Given the description of an element on the screen output the (x, y) to click on. 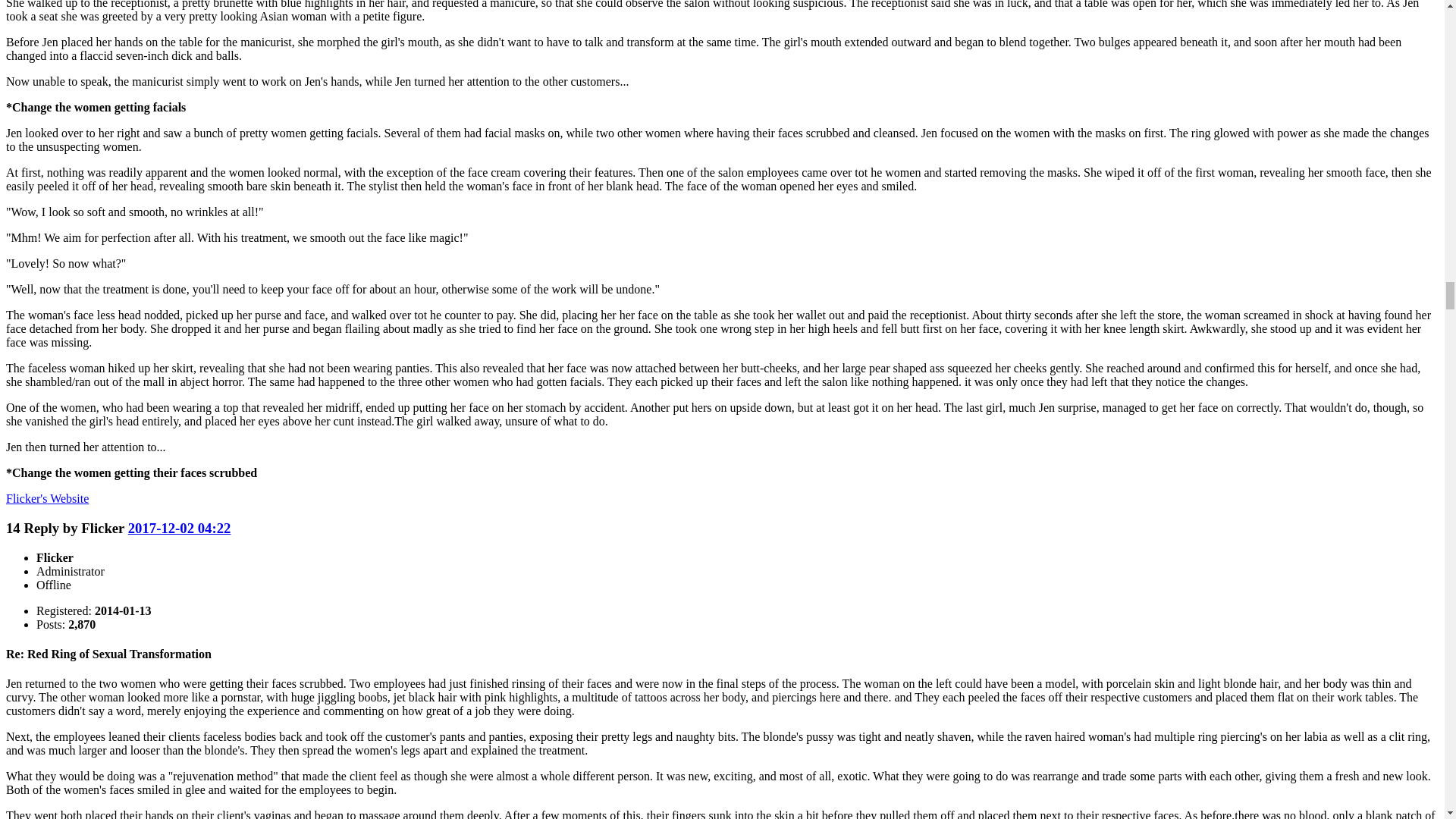
Permanent link to this post (179, 528)
